Given the description of an element on the screen output the (x, y) to click on. 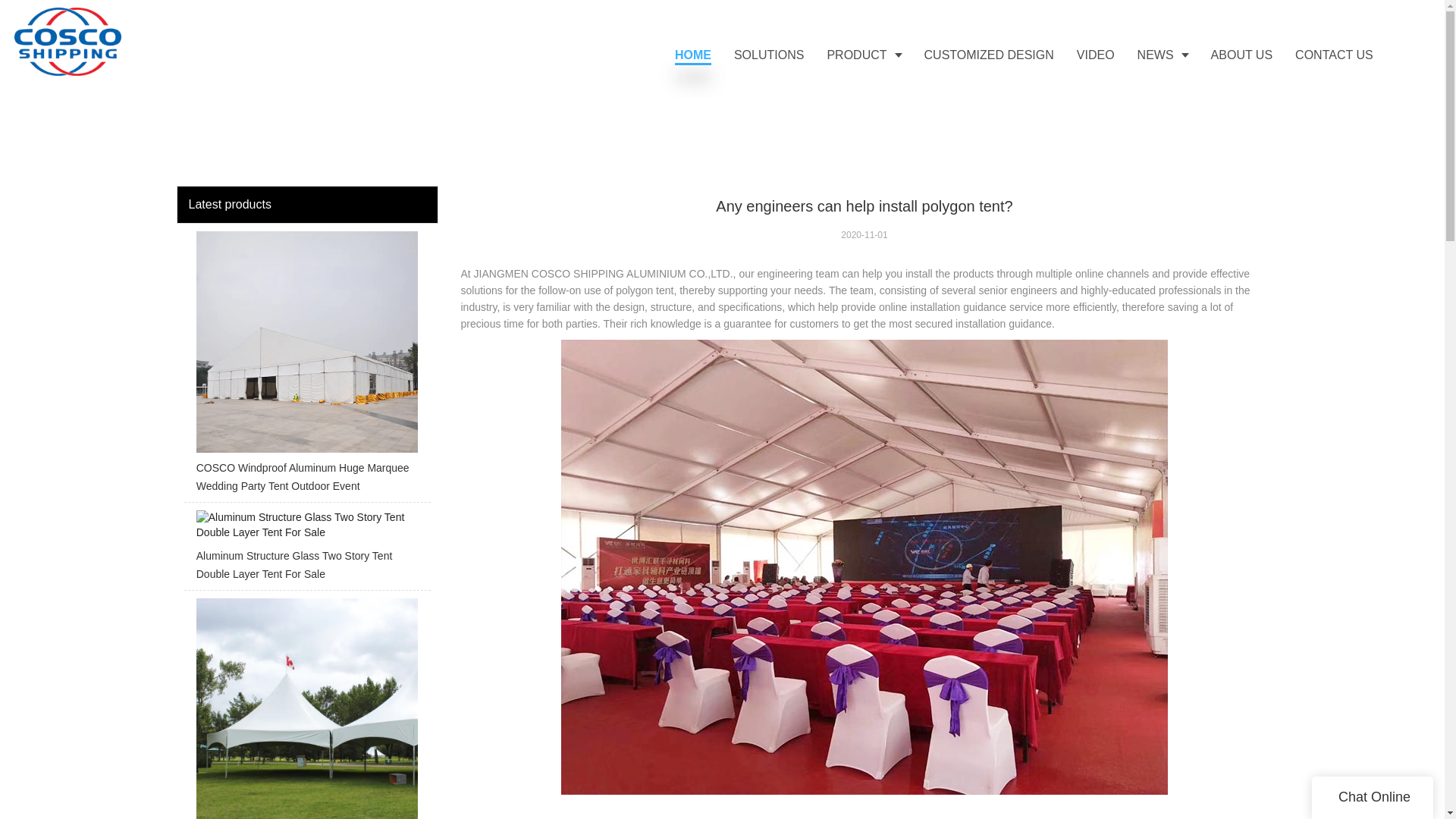
CONTACT US (1334, 55)
CUSTOMIZED DESIGN (988, 55)
NEWS (1162, 55)
HOME (692, 55)
PRODUCT (863, 55)
ABOUT US (1241, 55)
SOLUTIONS (768, 55)
